Given the description of an element on the screen output the (x, y) to click on. 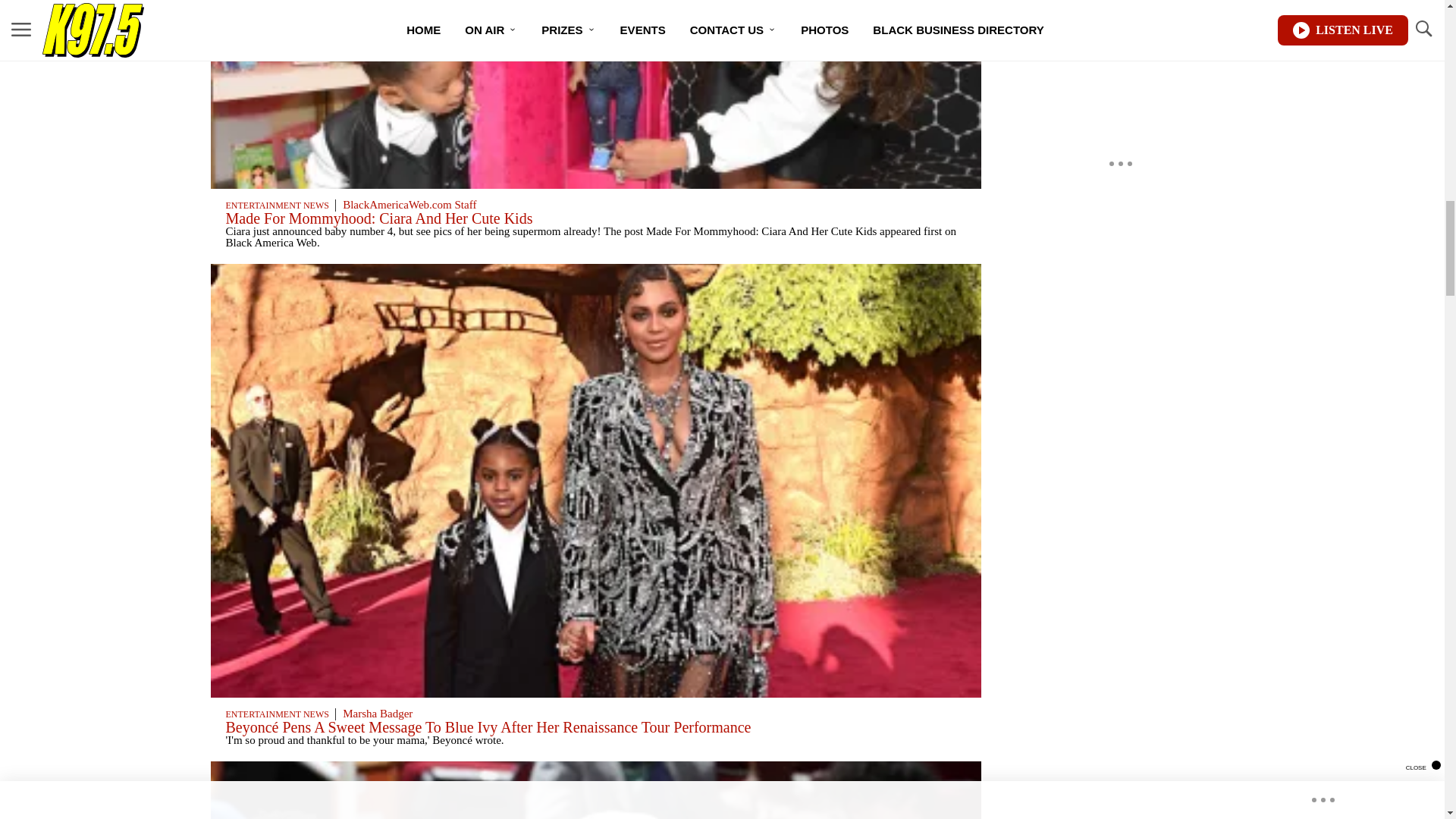
Marsha Badger (377, 713)
ENTERTAINMENT NEWS (277, 714)
BlackAmericaWeb.com Staff (409, 204)
Made For Mommyhood: Ciara And Her Cute Kids (378, 217)
ENTERTAINMENT NEWS (277, 204)
10 ITEMS (596, 184)
